Given the description of an element on the screen output the (x, y) to click on. 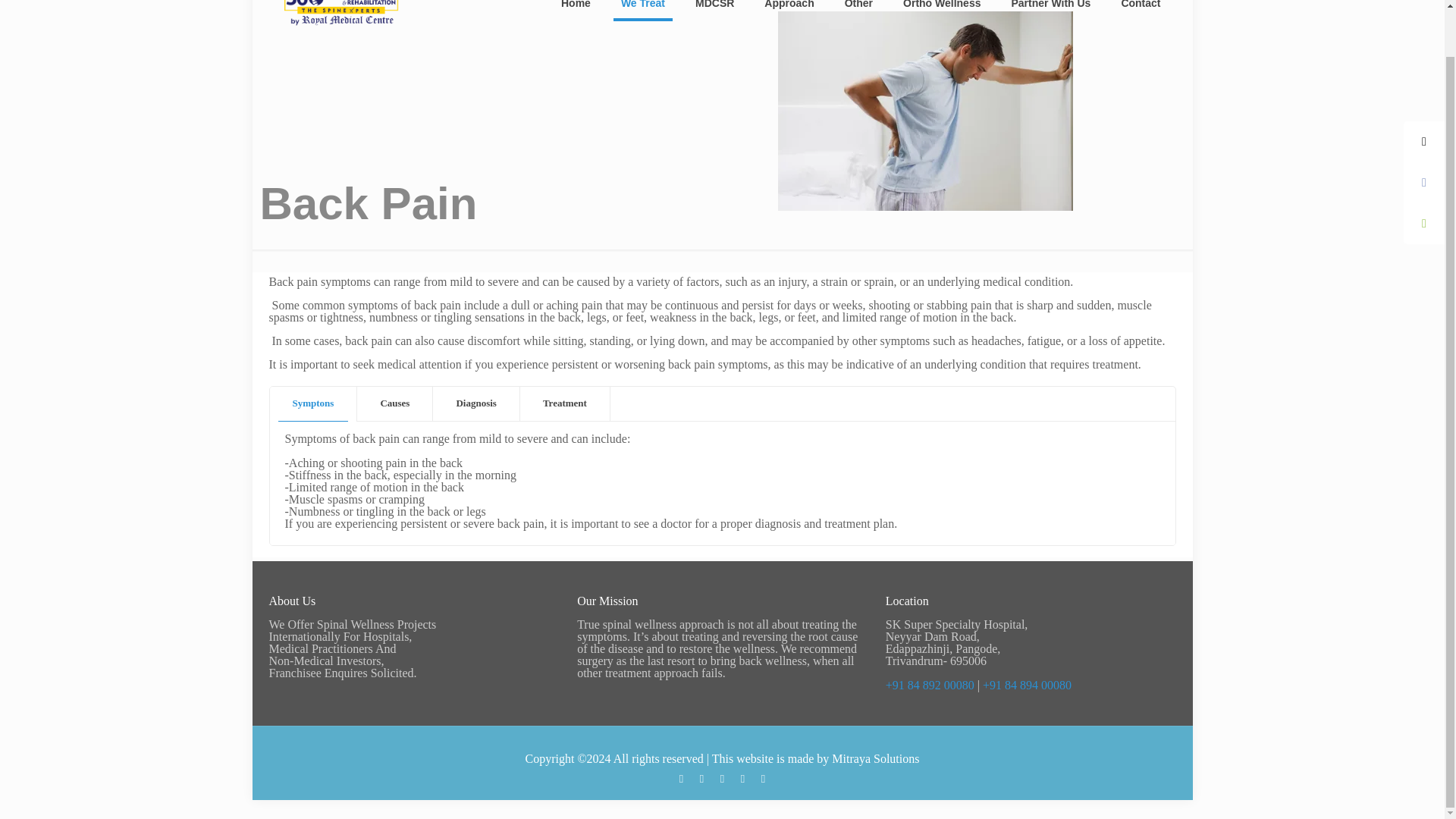
Contact (1139, 18)
Approach (788, 18)
Home (575, 18)
YouTube (722, 778)
Other (858, 18)
Ortho Wellness (941, 18)
Symptons (312, 403)
Causes (394, 403)
Instagram (763, 778)
Twitter (702, 778)
Partner With Us (1050, 18)
Facebook (680, 778)
We Treat (642, 18)
MDCSR (714, 18)
360 Spinal Wellness (342, 18)
